Given the description of an element on the screen output the (x, y) to click on. 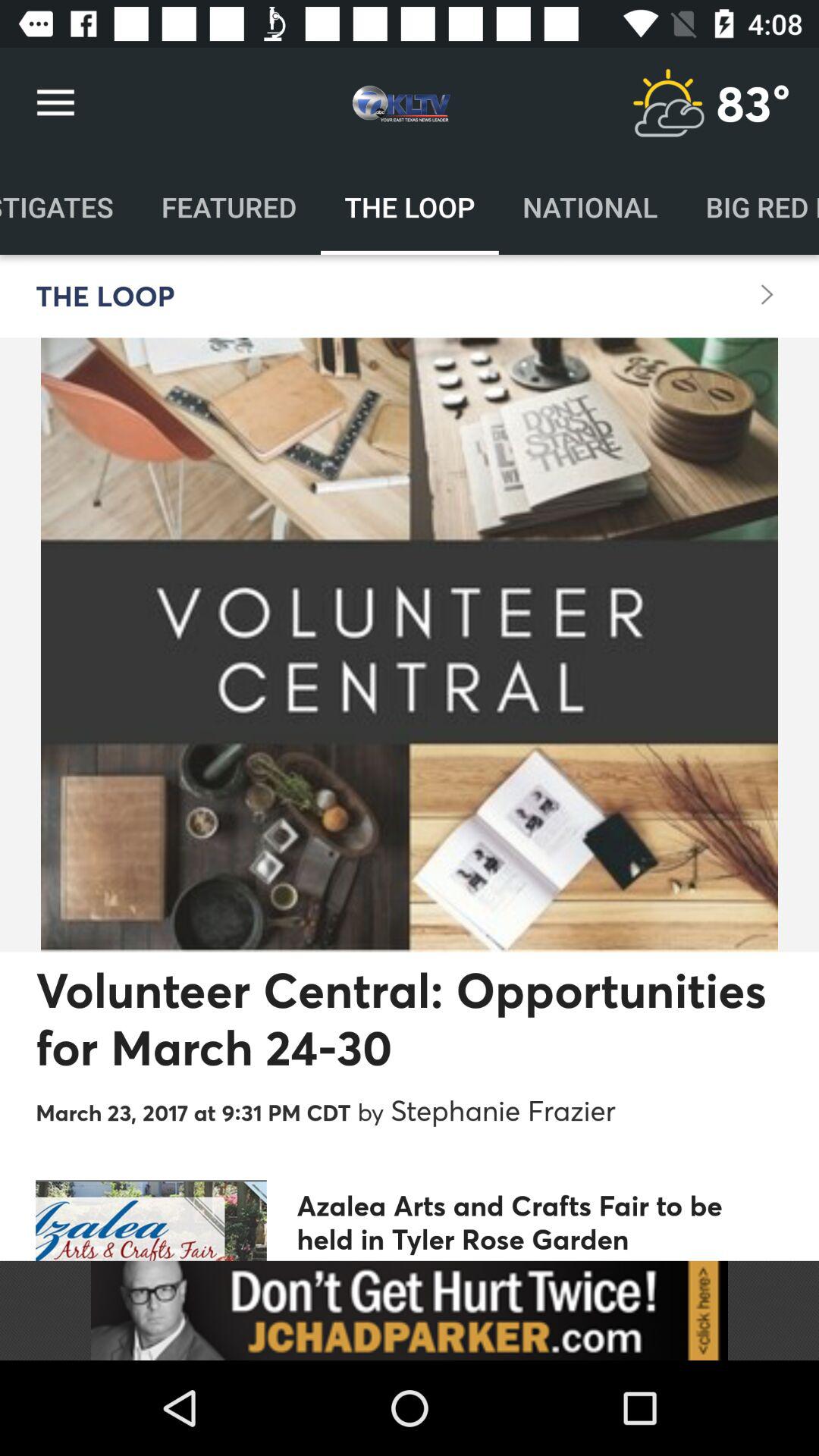
see article (409, 1310)
